Given the description of an element on the screen output the (x, y) to click on. 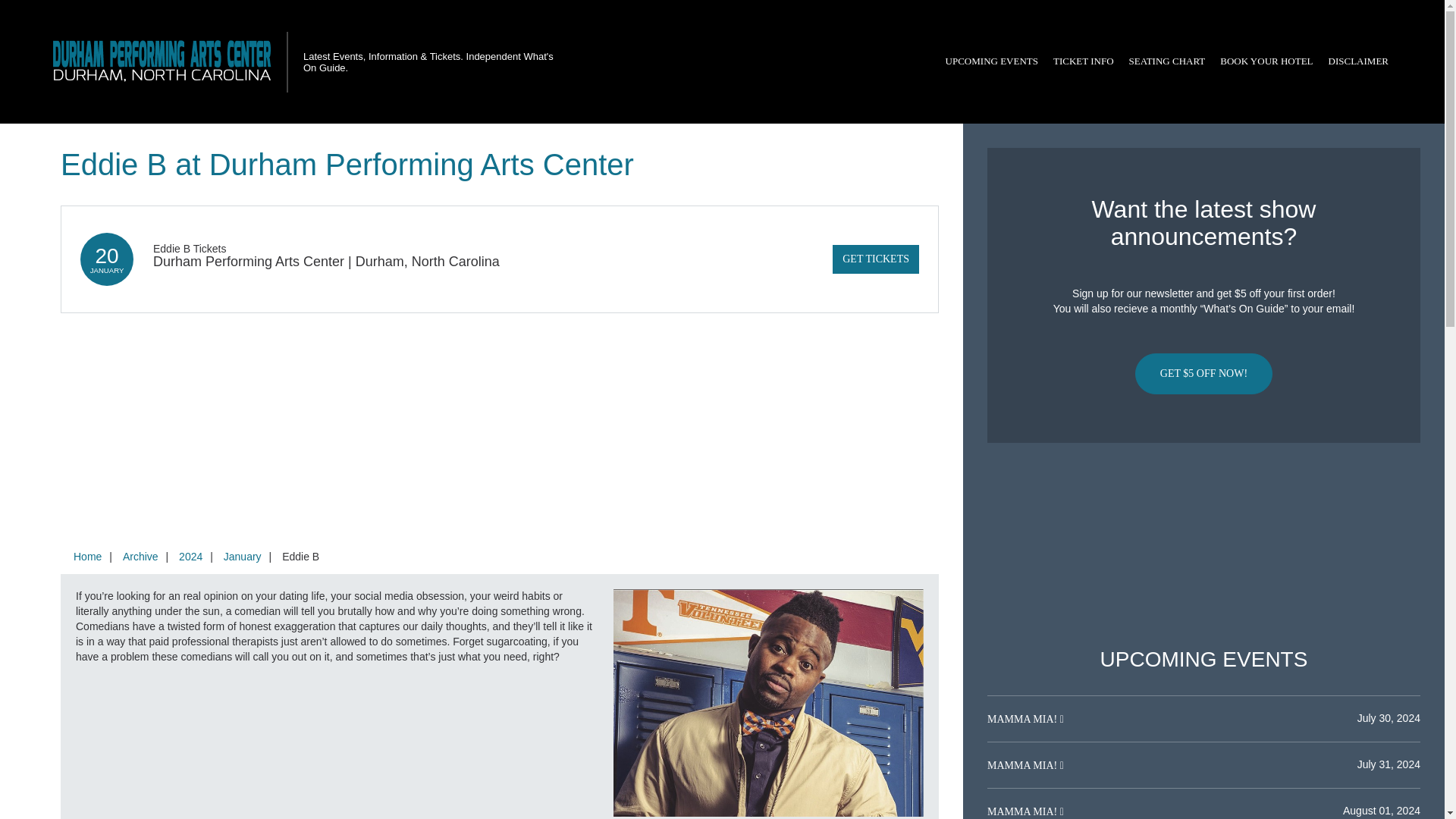
MAMMA MIA! (1023, 718)
2024 (190, 556)
UPCOMING EVENTS (991, 61)
TICKET INFO (1083, 61)
Home (87, 556)
Eddie B Tickets (189, 248)
GET TICKETS (875, 258)
BOOK YOUR HOTEL (1266, 61)
January (242, 556)
Archive (140, 556)
SEATING CHART (1166, 61)
DISCLAIMER (1358, 61)
